Given the description of an element on the screen output the (x, y) to click on. 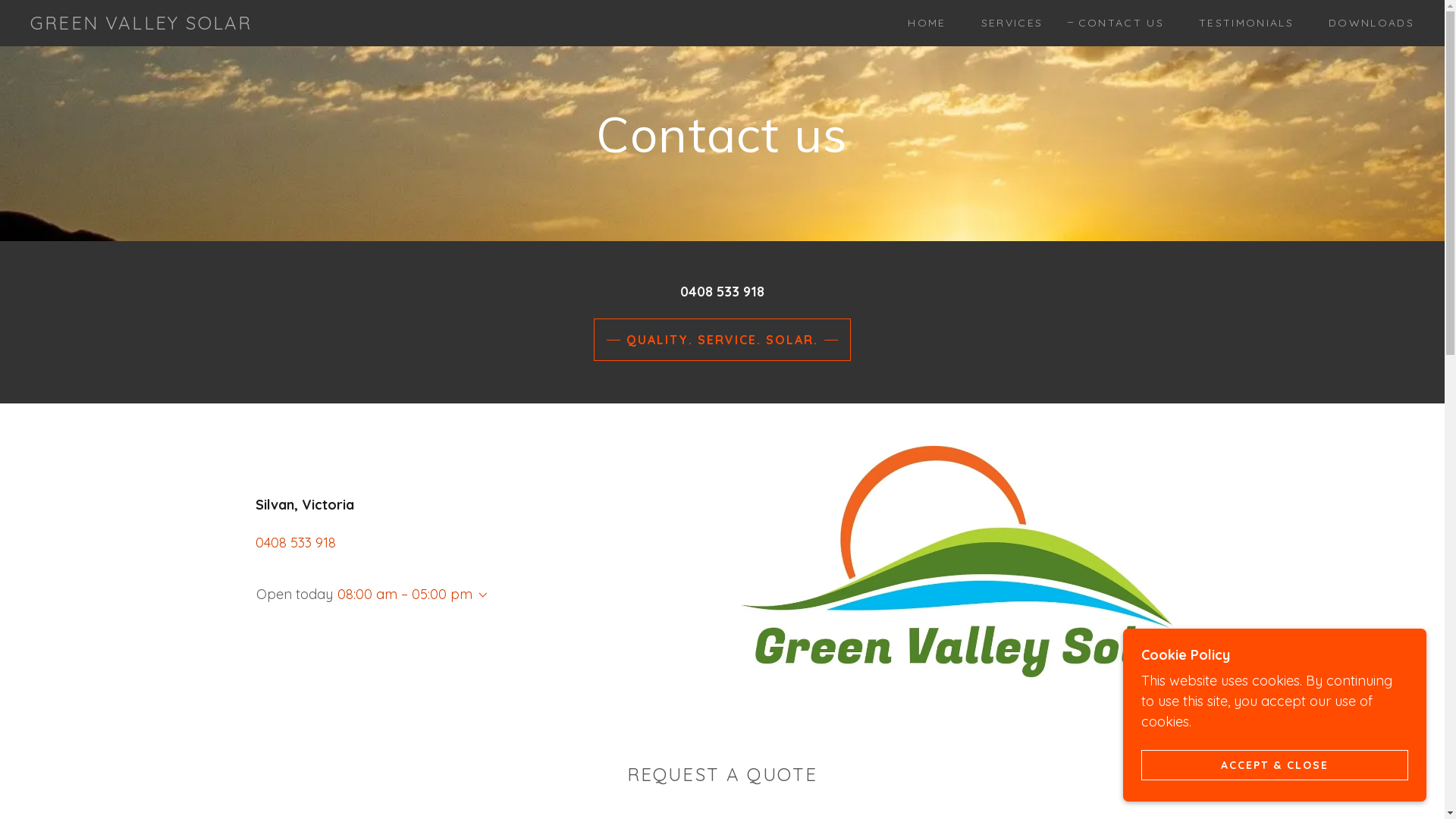
ACCEPT & CLOSE Element type: text (1274, 764)
HOME Element type: text (921, 22)
CONTACT US Element type: text (1115, 22)
QUALITY. SERVICE. SOLAR. Element type: text (721, 339)
0408 533 918 Element type: text (294, 542)
DOWNLOADS Element type: text (1365, 22)
SERVICES Element type: text (1007, 22)
TESTIMONIALS Element type: text (1240, 22)
GREEN VALLEY SOLAR Element type: text (140, 24)
